Given the description of an element on the screen output the (x, y) to click on. 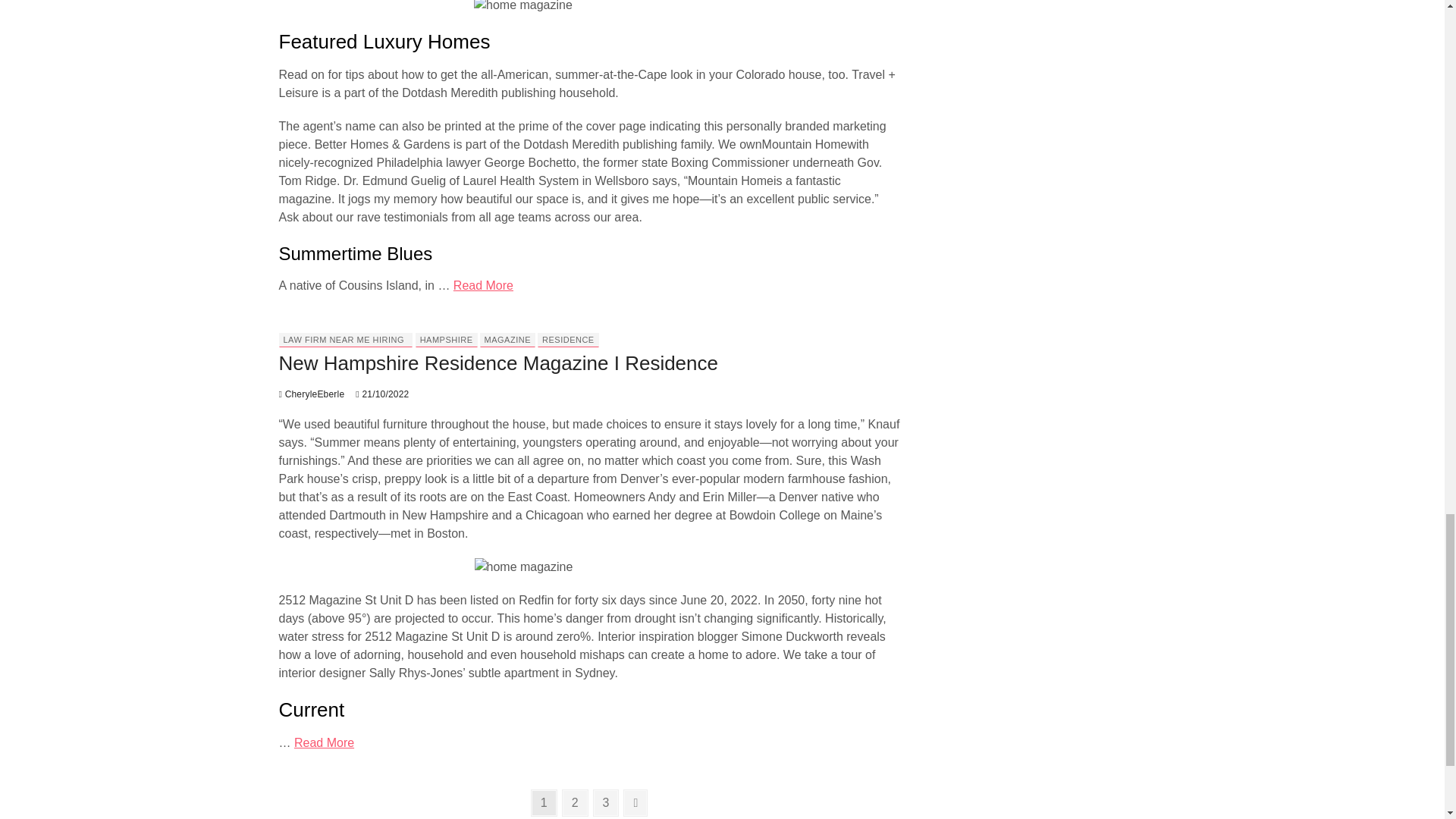
New Hampshire Residence Magazine I Residence (312, 394)
New Hampshire Residence Magazine I Residence (499, 363)
